Given the description of an element on the screen output the (x, y) to click on. 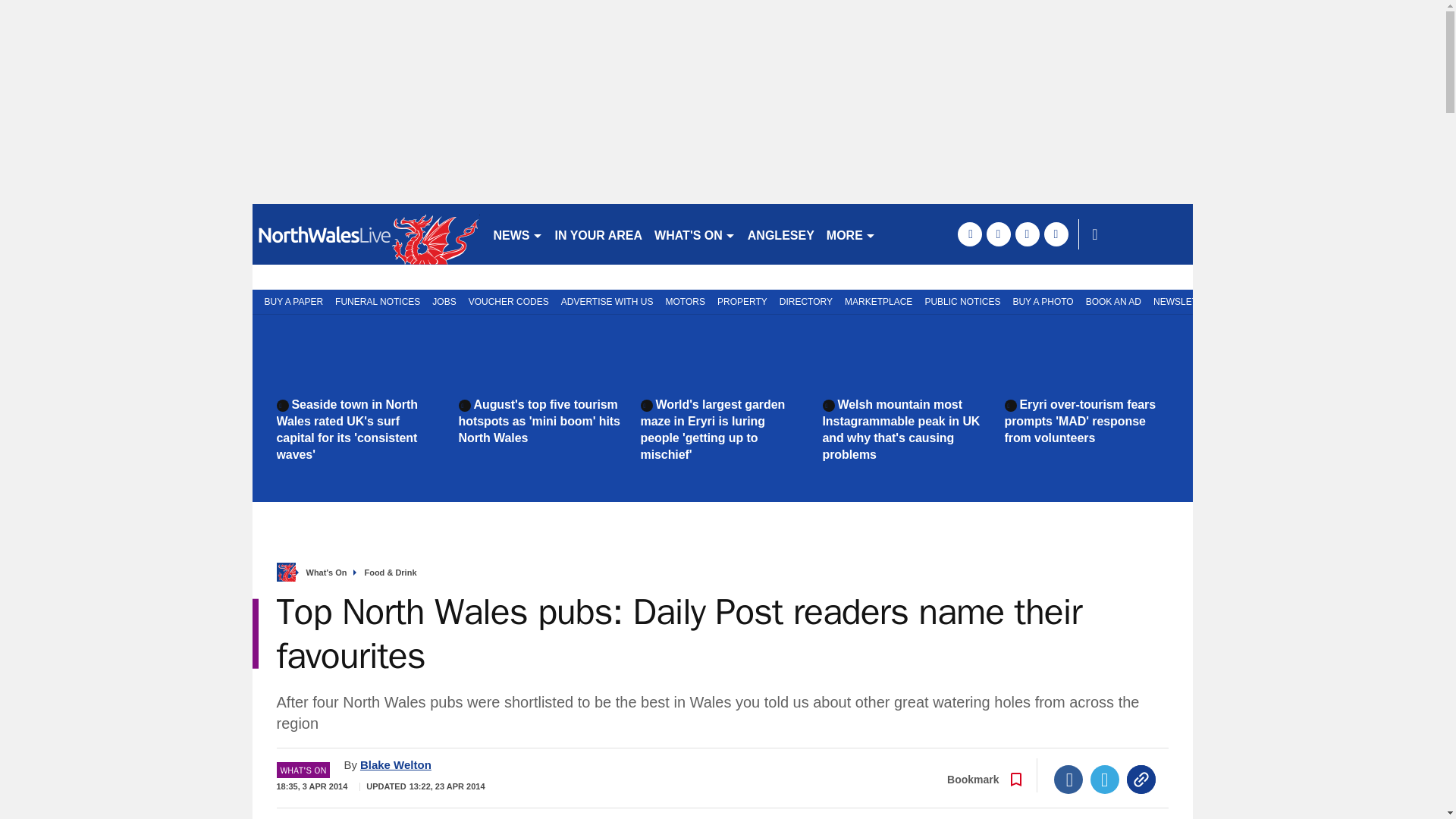
ANGLESEY (781, 233)
MORE (851, 233)
VOUCHER CODES (508, 300)
Twitter (1104, 778)
FUNERAL NOTICES (377, 300)
pinterest (1026, 233)
facebook (968, 233)
northwales (365, 233)
BUY A PAPER (290, 300)
IN YOUR AREA (598, 233)
